Given the description of an element on the screen output the (x, y) to click on. 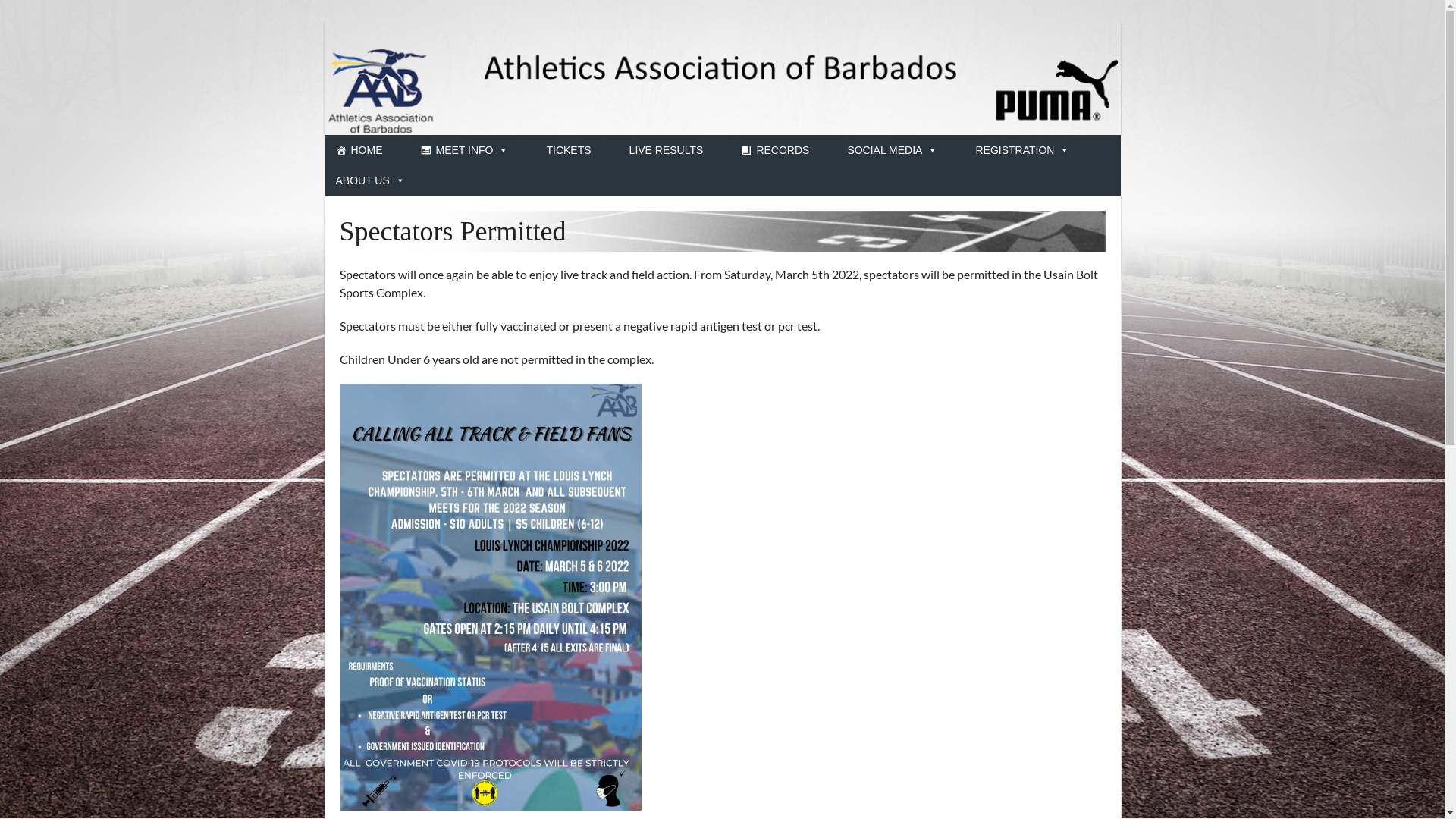
TICKETS Element type: text (568, 149)
LIVE RESULTS Element type: text (666, 149)
ABOUT US Element type: text (369, 180)
Skip to content Element type: text (0, 0)
RECORDS Element type: text (774, 149)
HOME Element type: text (358, 149)
MEET INFO Element type: text (463, 149)
SOCIAL MEDIA Element type: text (891, 149)
REGISTRATION Element type: text (1021, 149)
